Given the description of an element on the screen output the (x, y) to click on. 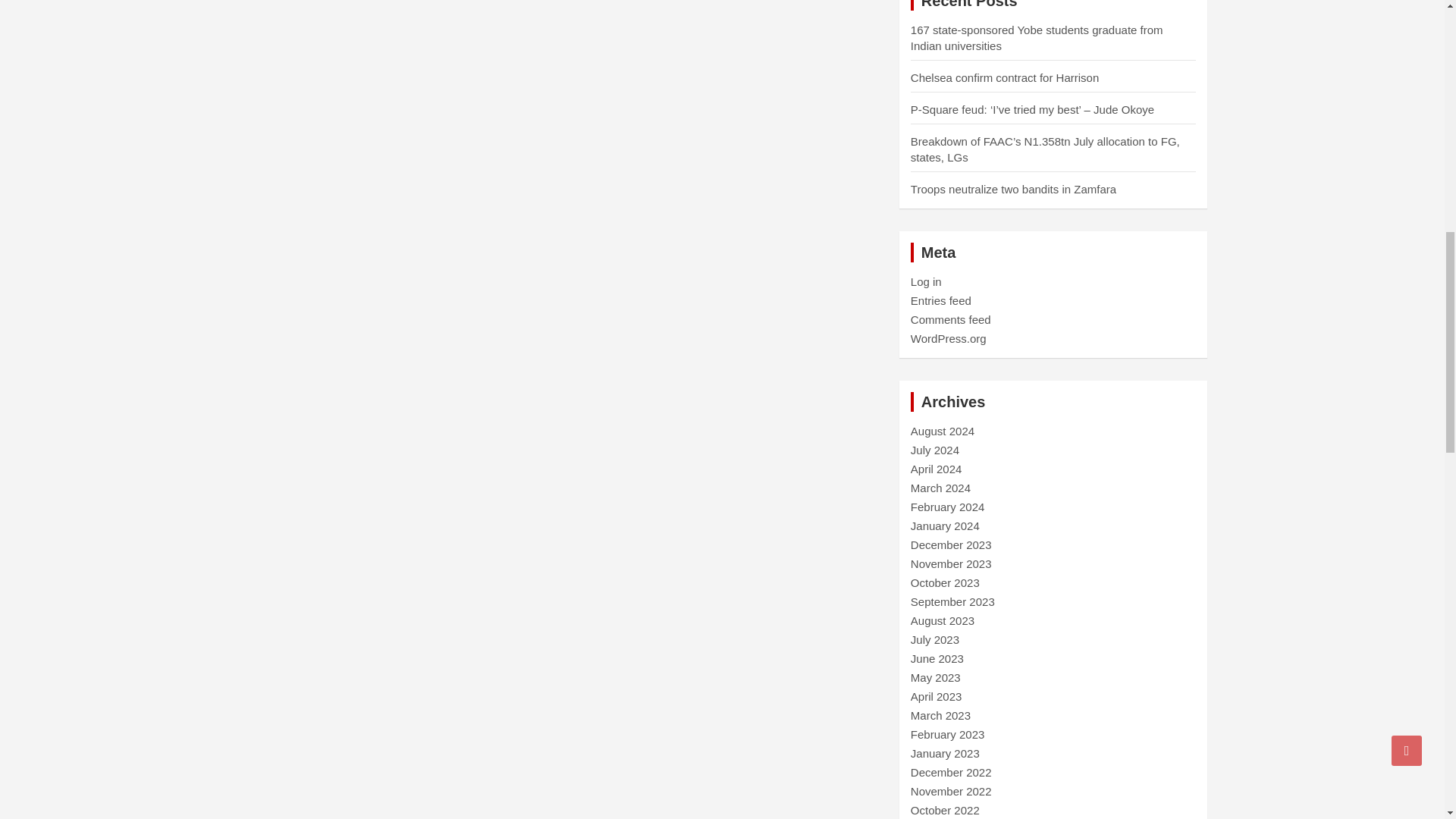
Chelsea confirm contract for Harrison (1005, 77)
Troops neutralize two bandits in Zamfara (1013, 188)
